Given the description of an element on the screen output the (x, y) to click on. 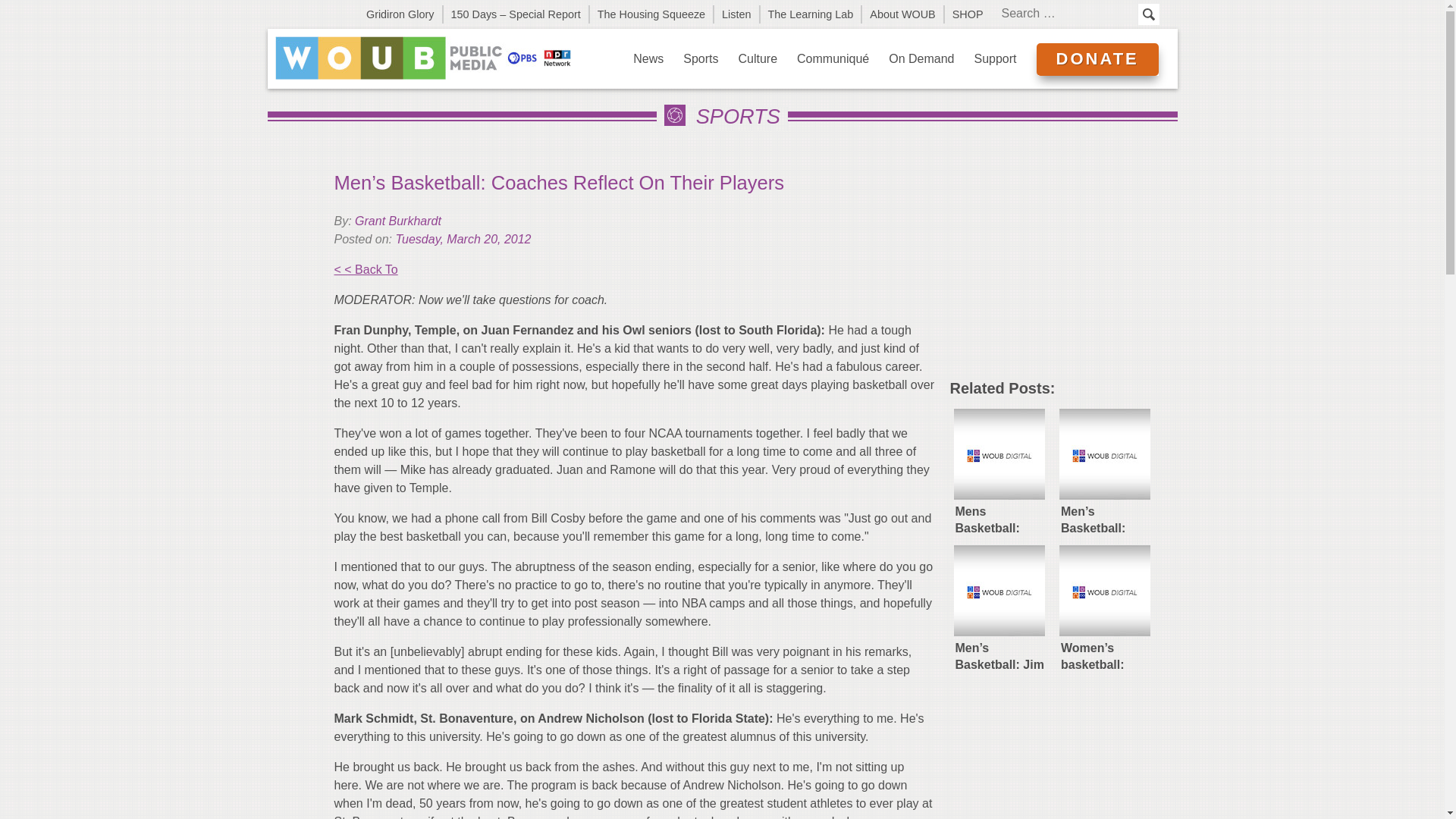
On Demand (921, 58)
Tuesday, March 20, 2012 (462, 238)
Search for: (1067, 13)
sports (700, 58)
About WOUB (902, 13)
Support (994, 58)
The Housing Squeeze (651, 13)
3rd party ad content (1062, 271)
Culture (757, 58)
donate (1096, 59)
Gridiron Glory (401, 13)
The Learning Lab (810, 13)
Sports (700, 58)
Grant Burkhardt (398, 220)
communique (833, 58)
